Given the description of an element on the screen output the (x, y) to click on. 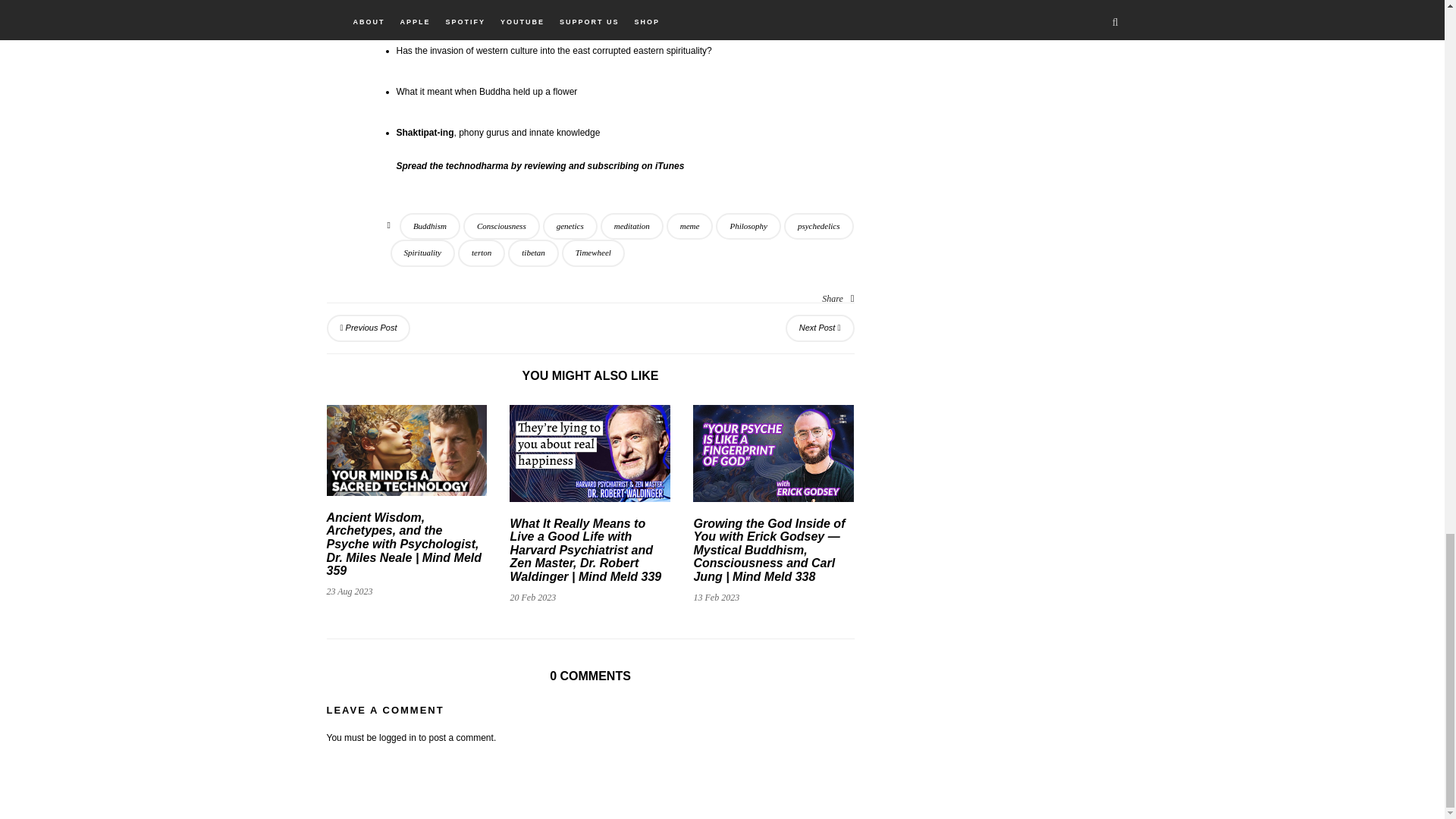
terton (481, 252)
Next Post (820, 328)
meme (689, 225)
Tertons (493, 9)
Timewheel (593, 252)
Shaktipat-ing (424, 132)
Spirituality (422, 252)
Previous Post (368, 328)
genetics (569, 225)
psychedelics (818, 225)
